Given the description of an element on the screen output the (x, y) to click on. 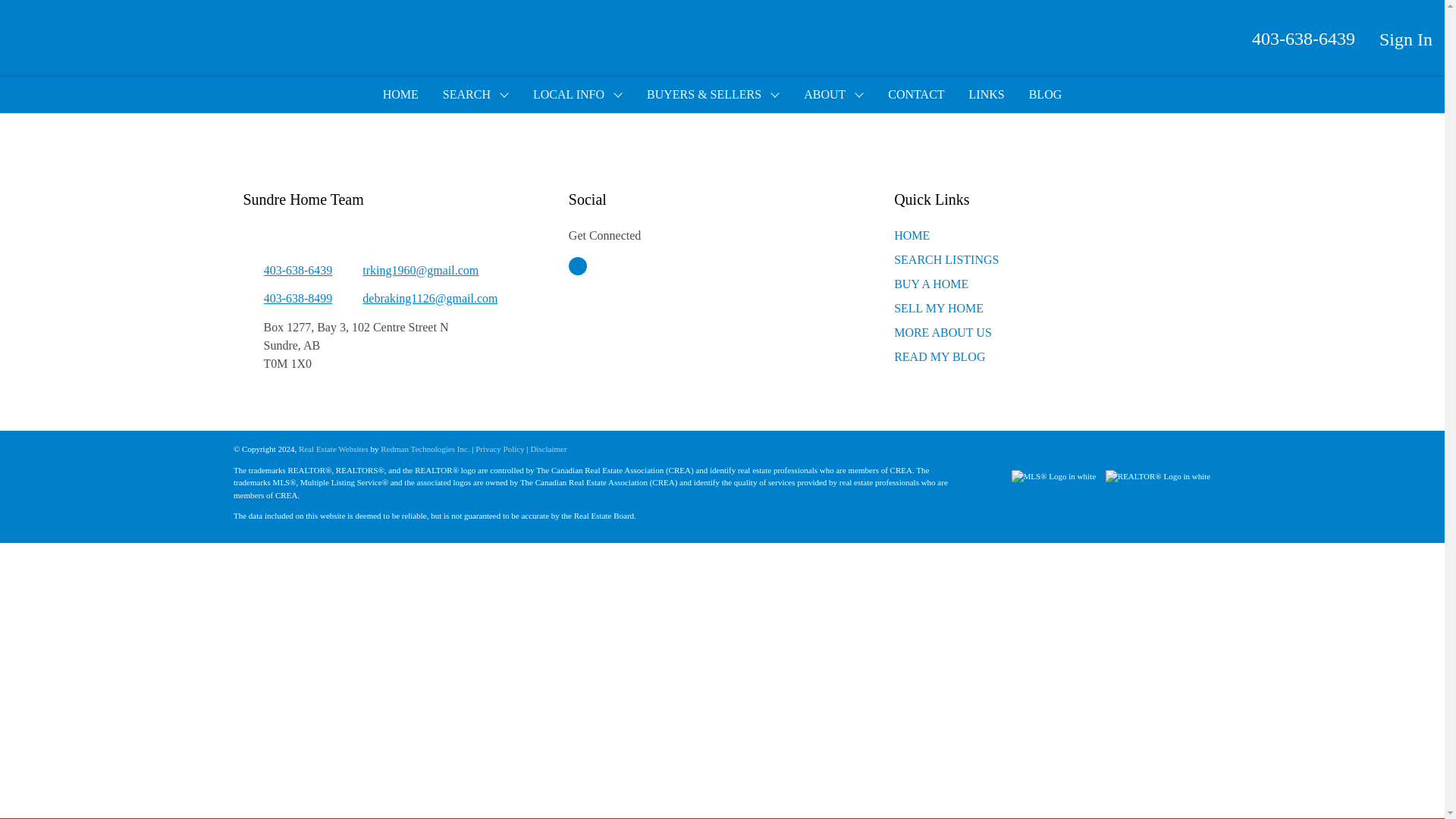
MORE ABOUT US (942, 332)
HOME (911, 235)
SEARCH LISTINGS (945, 259)
CONTACT (916, 94)
Sign In (1405, 39)
BUY A HOME (930, 283)
SELL MY HOME (938, 308)
403-638-8499 (287, 298)
HOME (400, 94)
BLOG (1045, 94)
